Given the description of an element on the screen output the (x, y) to click on. 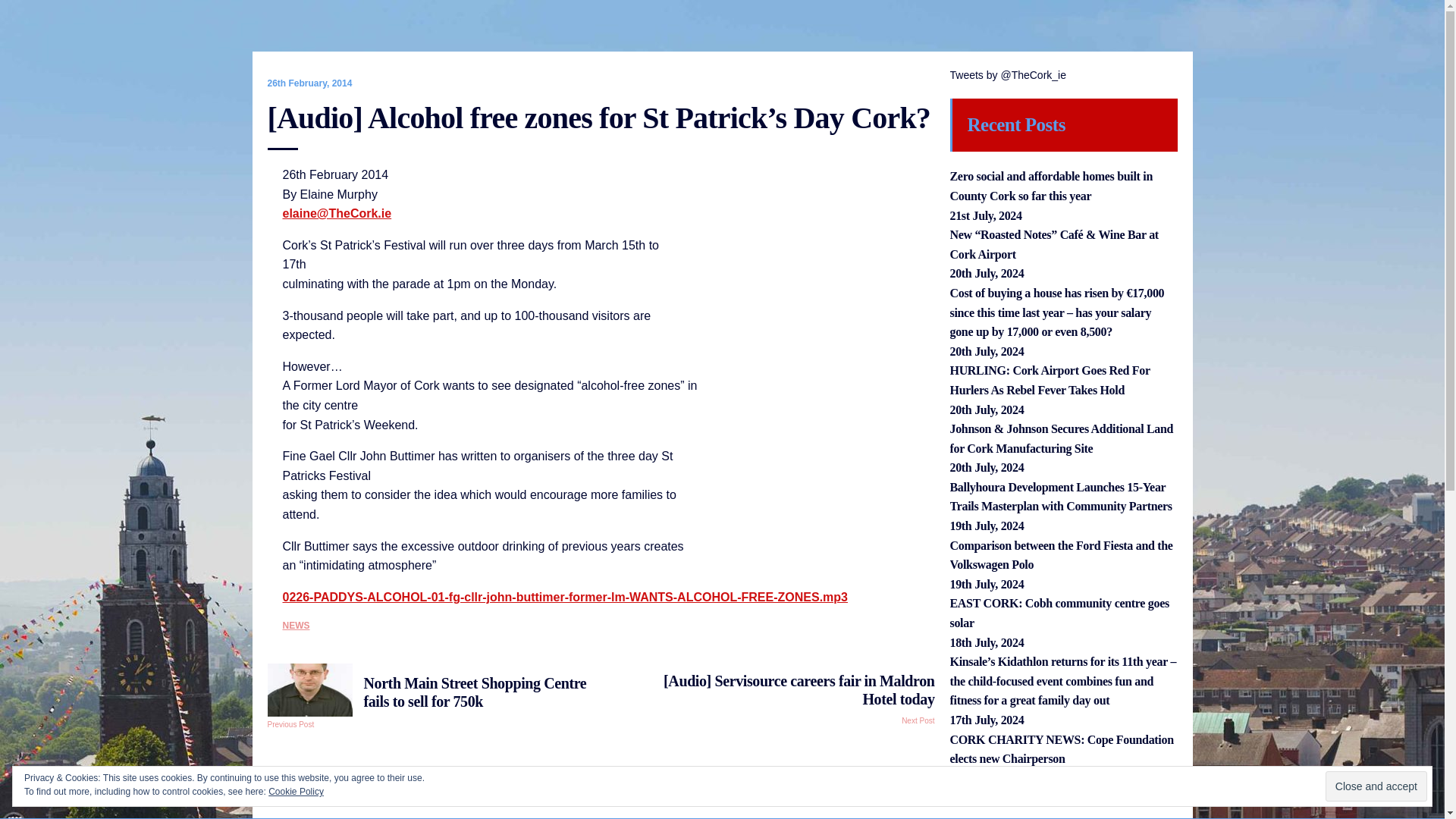
Close and accept (1375, 786)
